Given the description of an element on the screen output the (x, y) to click on. 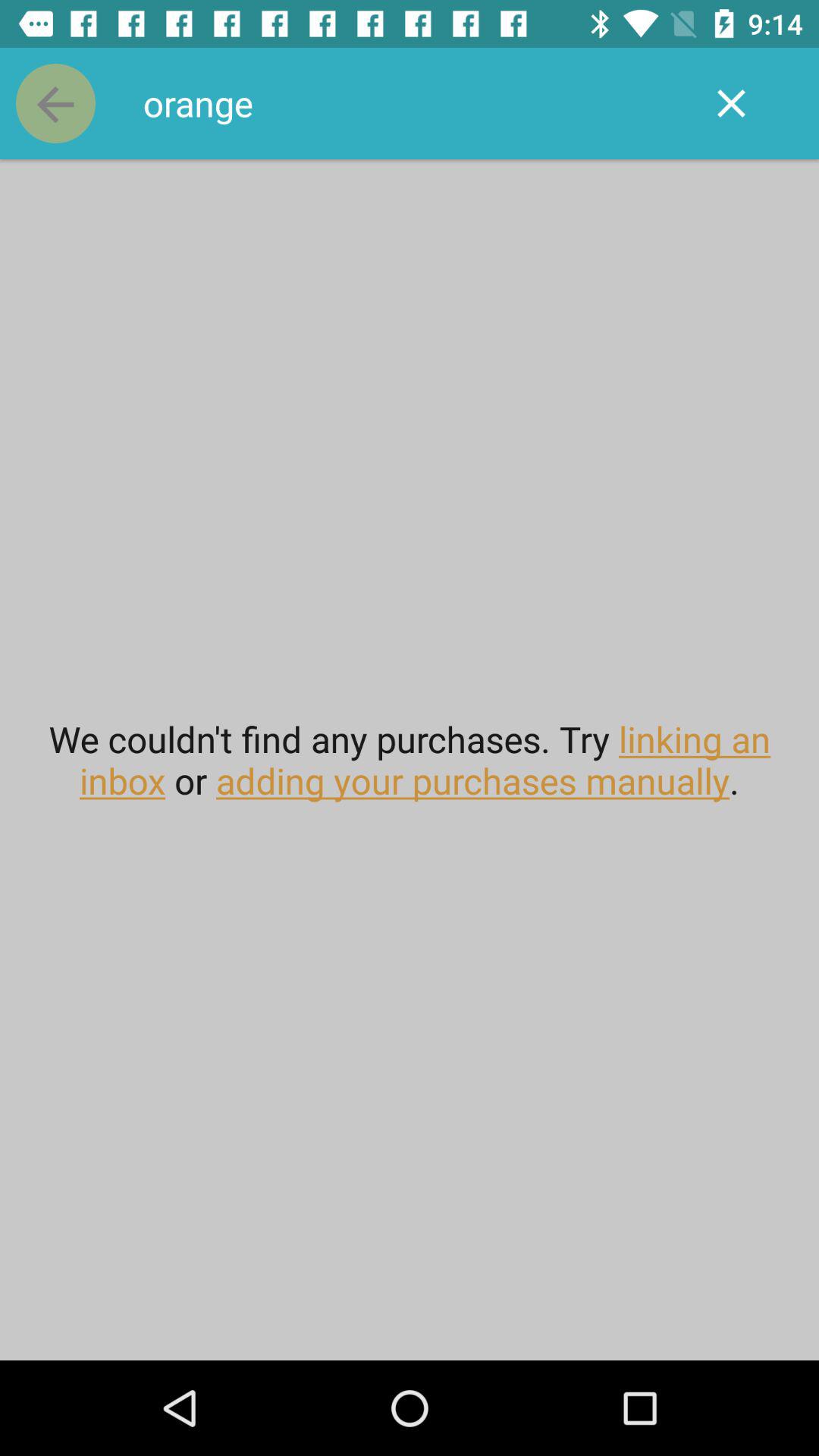
tap icon to the left of orange item (55, 103)
